Given the description of an element on the screen output the (x, y) to click on. 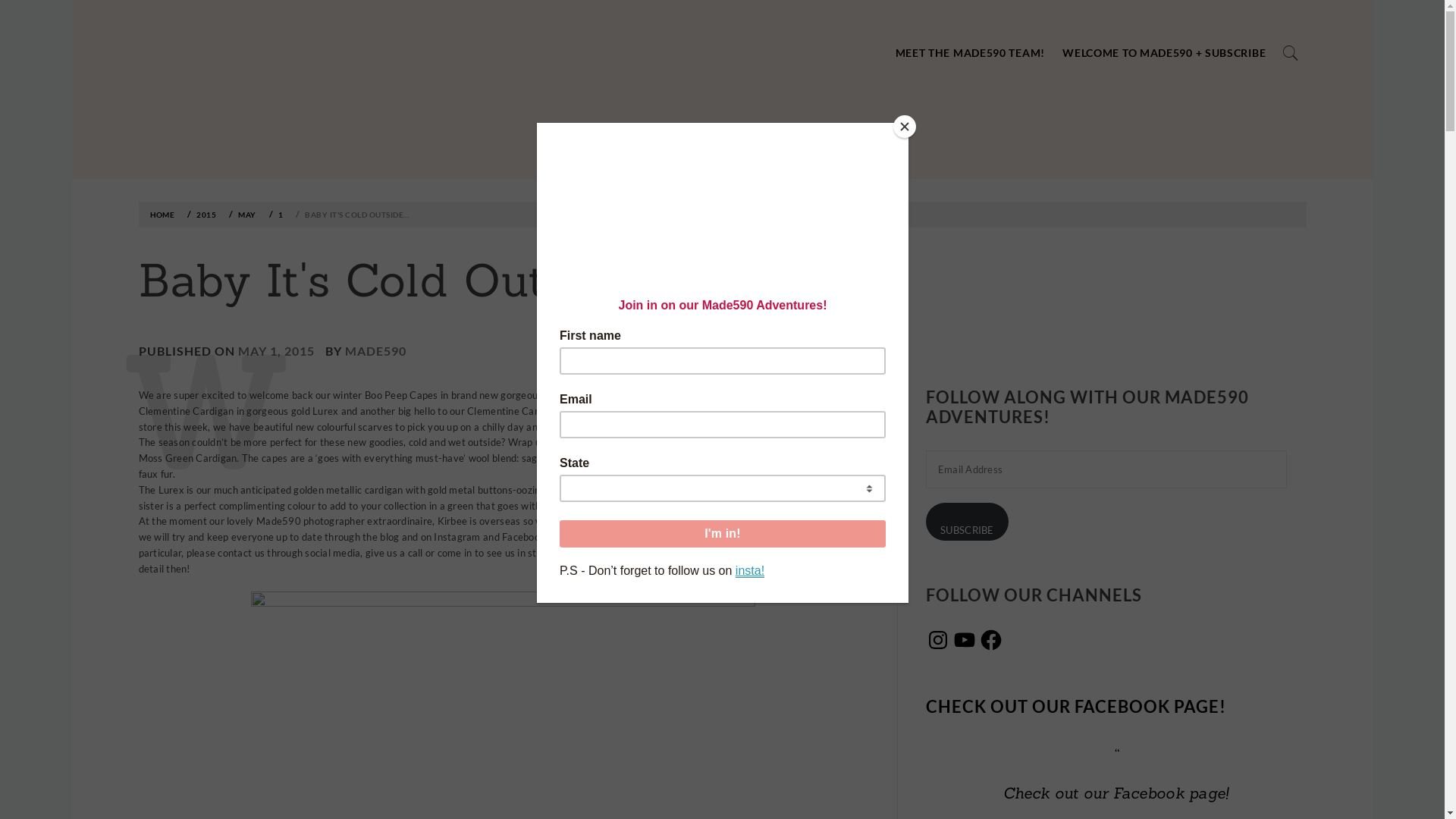
Facebook Element type: text (991, 639)
MAY 1, 2015 Element type: text (276, 350)
SUBSCRIBE Element type: text (966, 521)
Check out our Facebook page! Element type: text (1115, 793)
Search Element type: text (645, 37)
1 Element type: text (278, 214)
Instagram Element type: text (937, 639)
Skip to content Element type: text (71, 178)
2015 Element type: text (204, 214)
YouTube Element type: text (964, 639)
CHECK OUT OUR FACEBOOK PAGE! Element type: text (1075, 706)
WELCOME TO MADE590 + SUBSCRIBE Element type: text (1163, 52)
MADE590: LOCALLY MADE, SIZE INCLUSIVE CLOTHING Element type: text (136, 139)
MAY Element type: text (244, 214)
MADE590 Element type: text (374, 350)
HOME Element type: text (165, 214)
MEET THE MADE590 TEAM! Element type: text (970, 52)
